Given the description of an element on the screen output the (x, y) to click on. 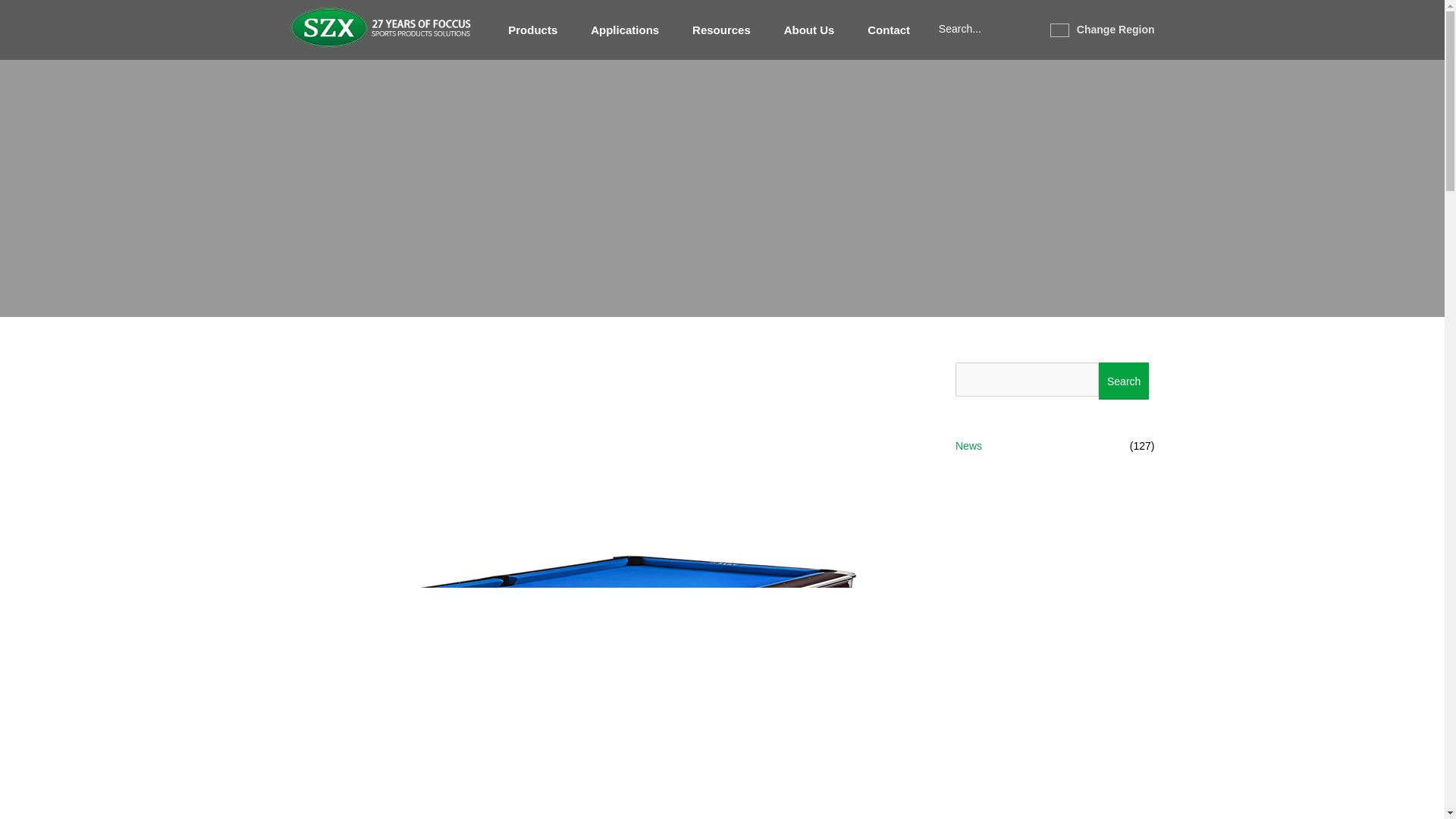
About Us (809, 29)
Contact (888, 29)
Resources (722, 29)
Products (532, 29)
Search (1123, 380)
Change Region (1101, 29)
Search... (976, 29)
Applications (625, 29)
Search (1123, 380)
